Given the description of an element on the screen output the (x, y) to click on. 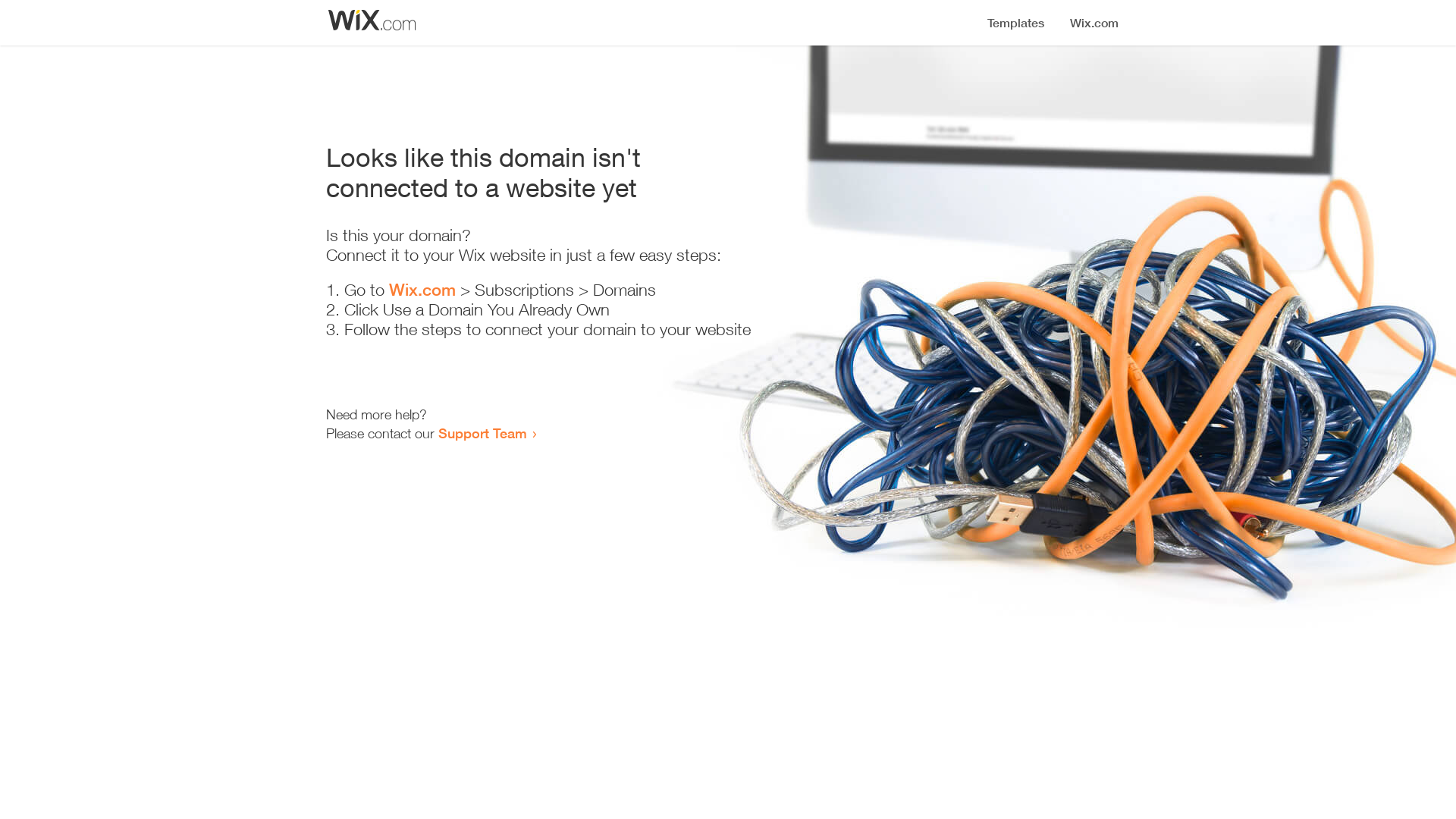
Wix.com Element type: text (422, 289)
Support Team Element type: text (482, 432)
